Given the description of an element on the screen output the (x, y) to click on. 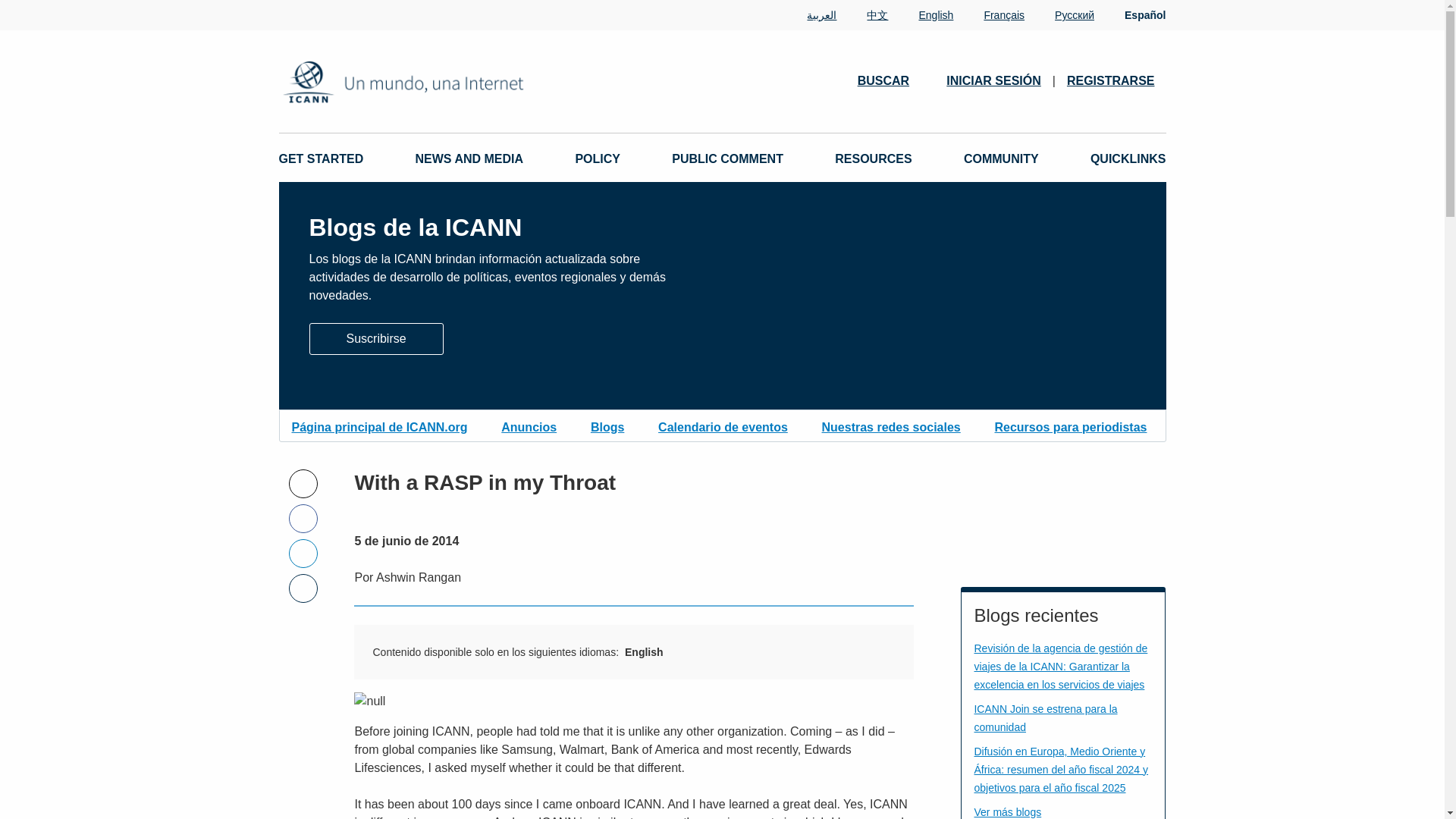
QUICKLINKS (1128, 158)
English (920, 14)
Logo (452, 81)
POLICY (597, 158)
Suscribirse (376, 337)
GET STARTED (321, 158)
BUSCAR (890, 79)
Calendario de eventos (722, 425)
COMMUNITY (1001, 158)
Suscribirse (376, 338)
